Given the description of an element on the screen output the (x, y) to click on. 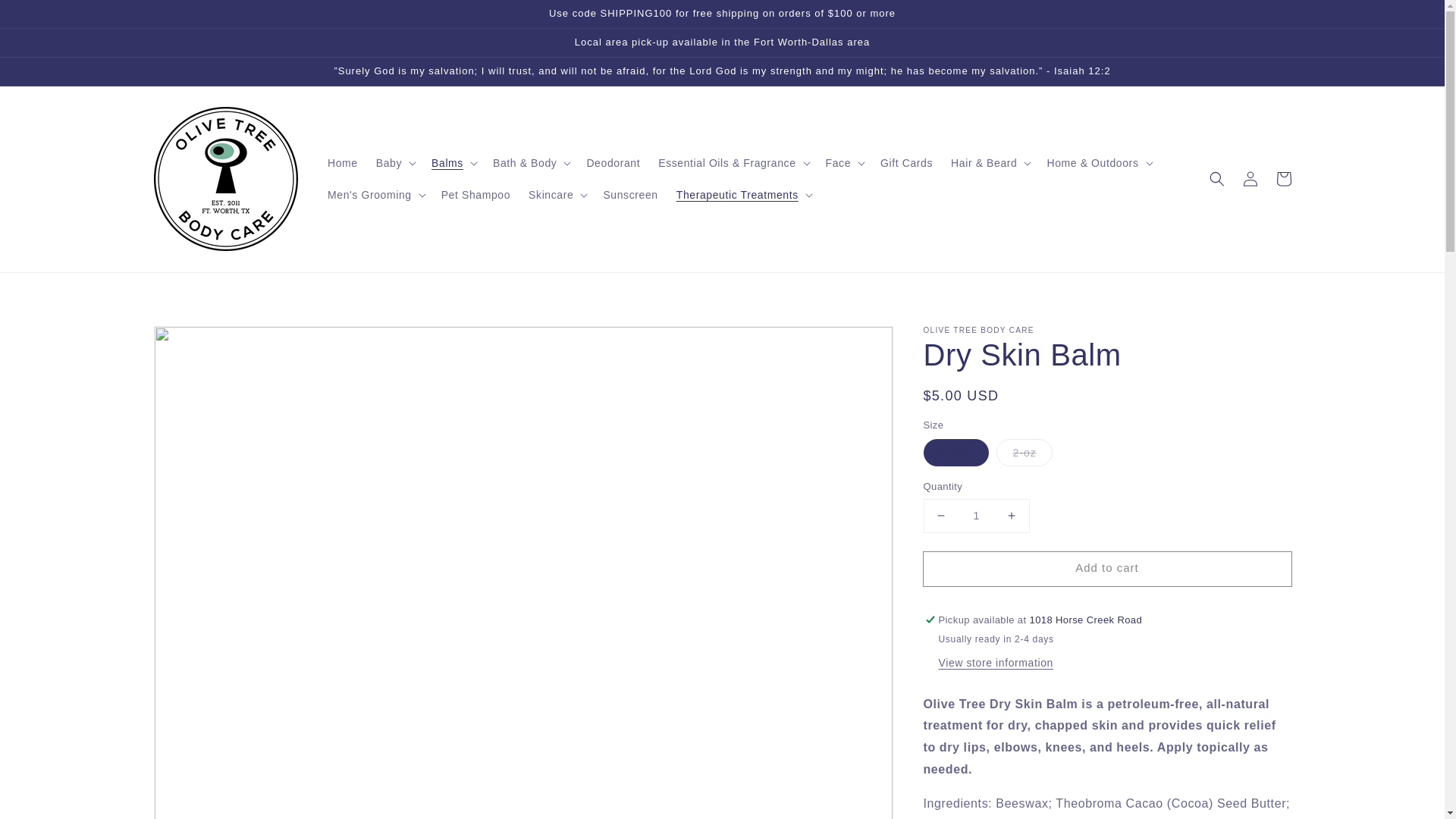
Skip to content (45, 16)
1 (976, 515)
